Given the description of an element on the screen output the (x, y) to click on. 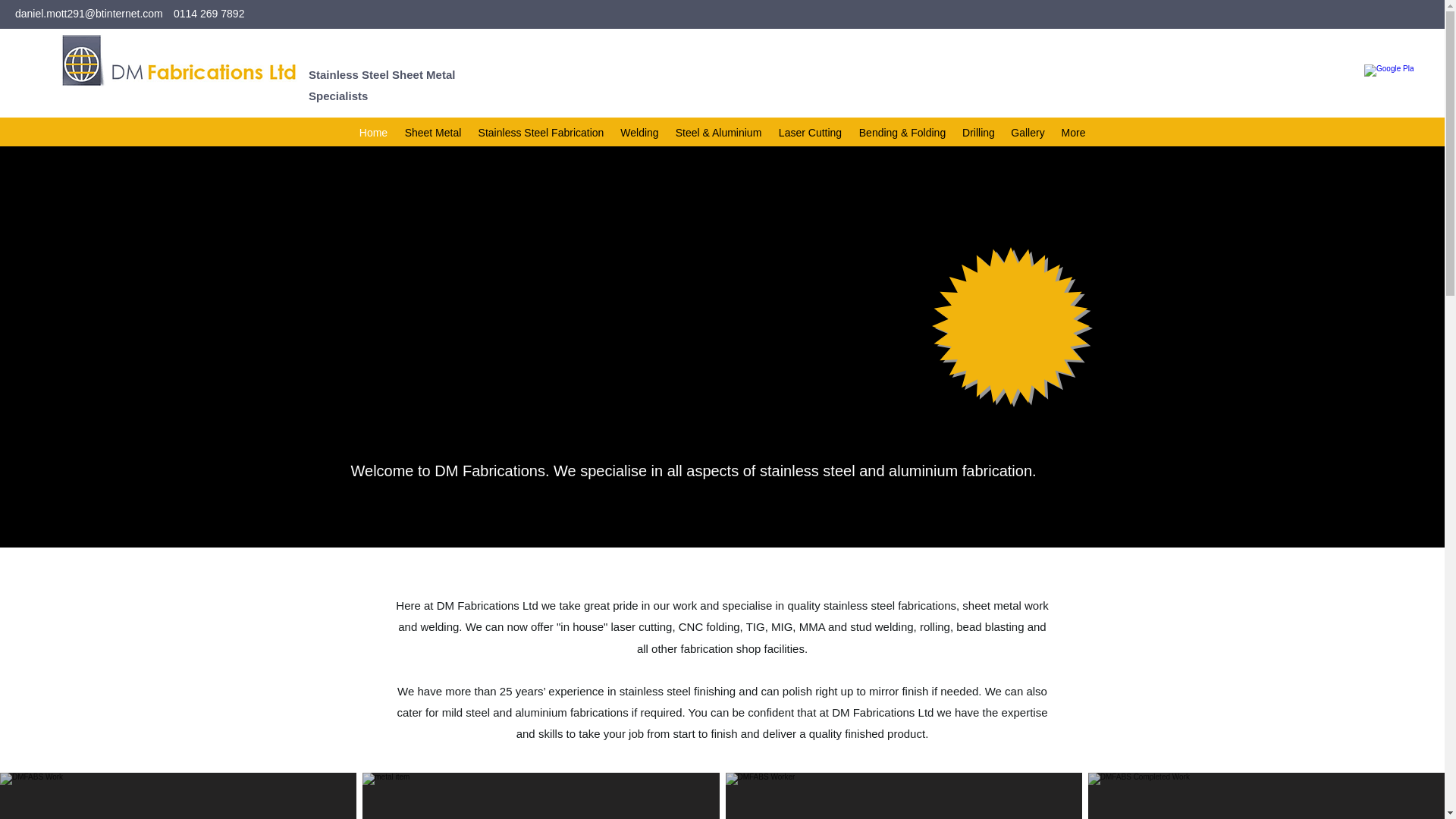
Welding (639, 132)
Home (373, 132)
Gallery (1027, 132)
Laser Cutting (810, 132)
Stainless Steel Fabrication (541, 132)
Sheet Metal (432, 132)
Drilling (978, 132)
